Given the description of an element on the screen output the (x, y) to click on. 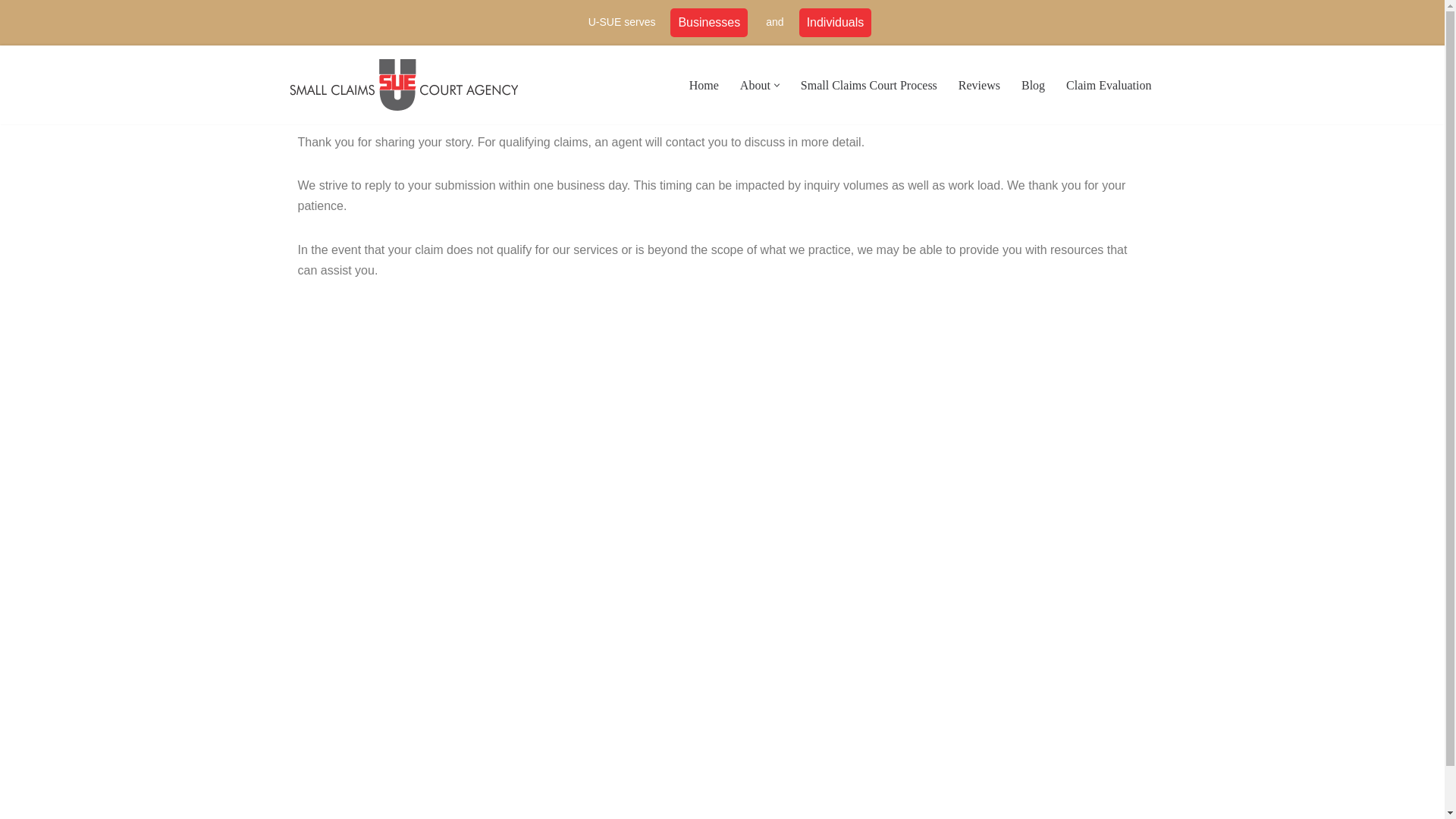
Home (703, 85)
Small Claims Court Process (868, 85)
Claim Evaluation (1108, 85)
Reviews (979, 85)
Skip to content (11, 77)
Blog (1033, 85)
About (754, 85)
Individuals (835, 22)
Businesses (708, 22)
